Given the description of an element on the screen output the (x, y) to click on. 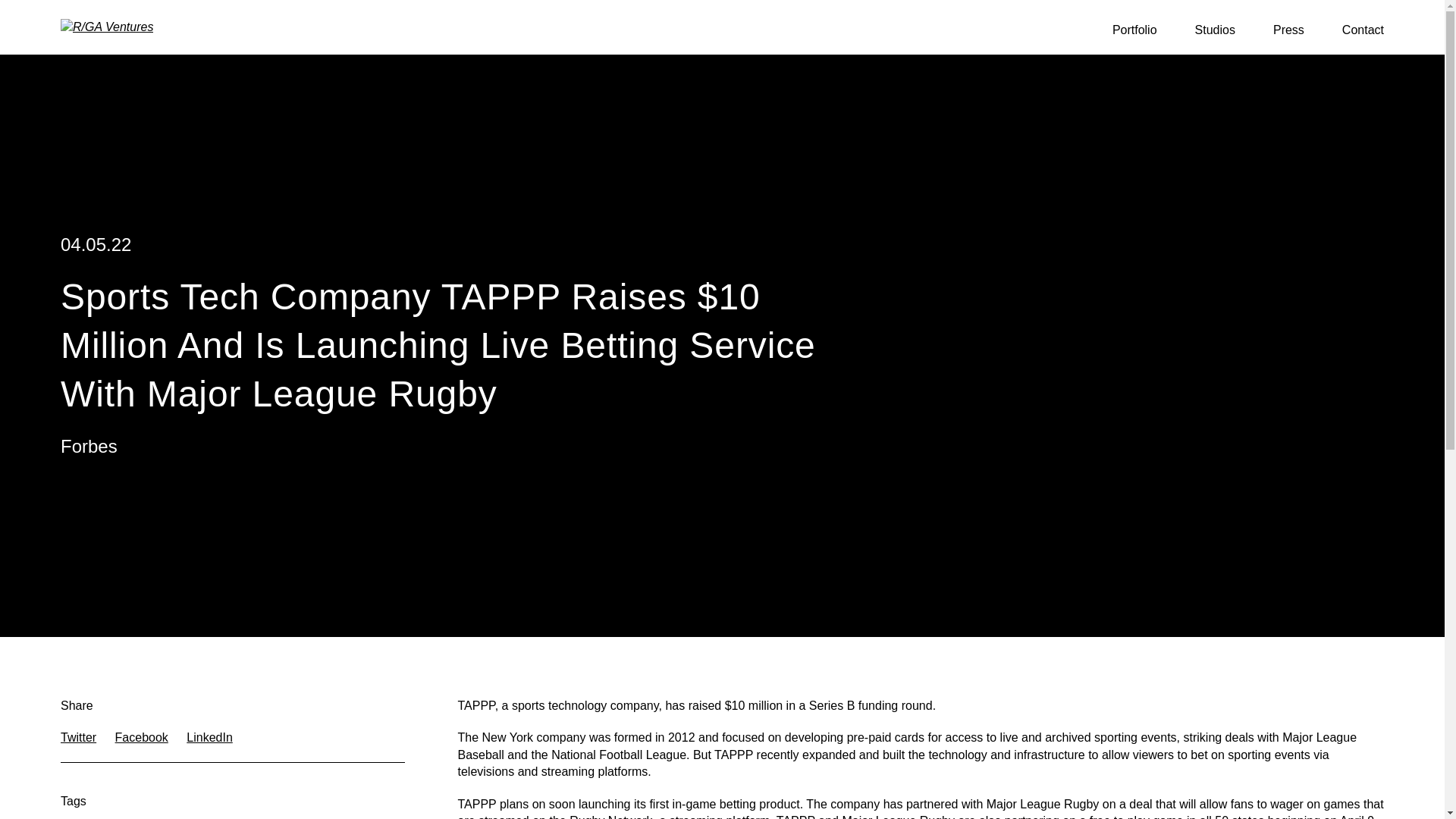
Send (563, 439)
Twitter (78, 737)
Facebook (141, 737)
LinkedIn (209, 737)
